Given the description of an element on the screen output the (x, y) to click on. 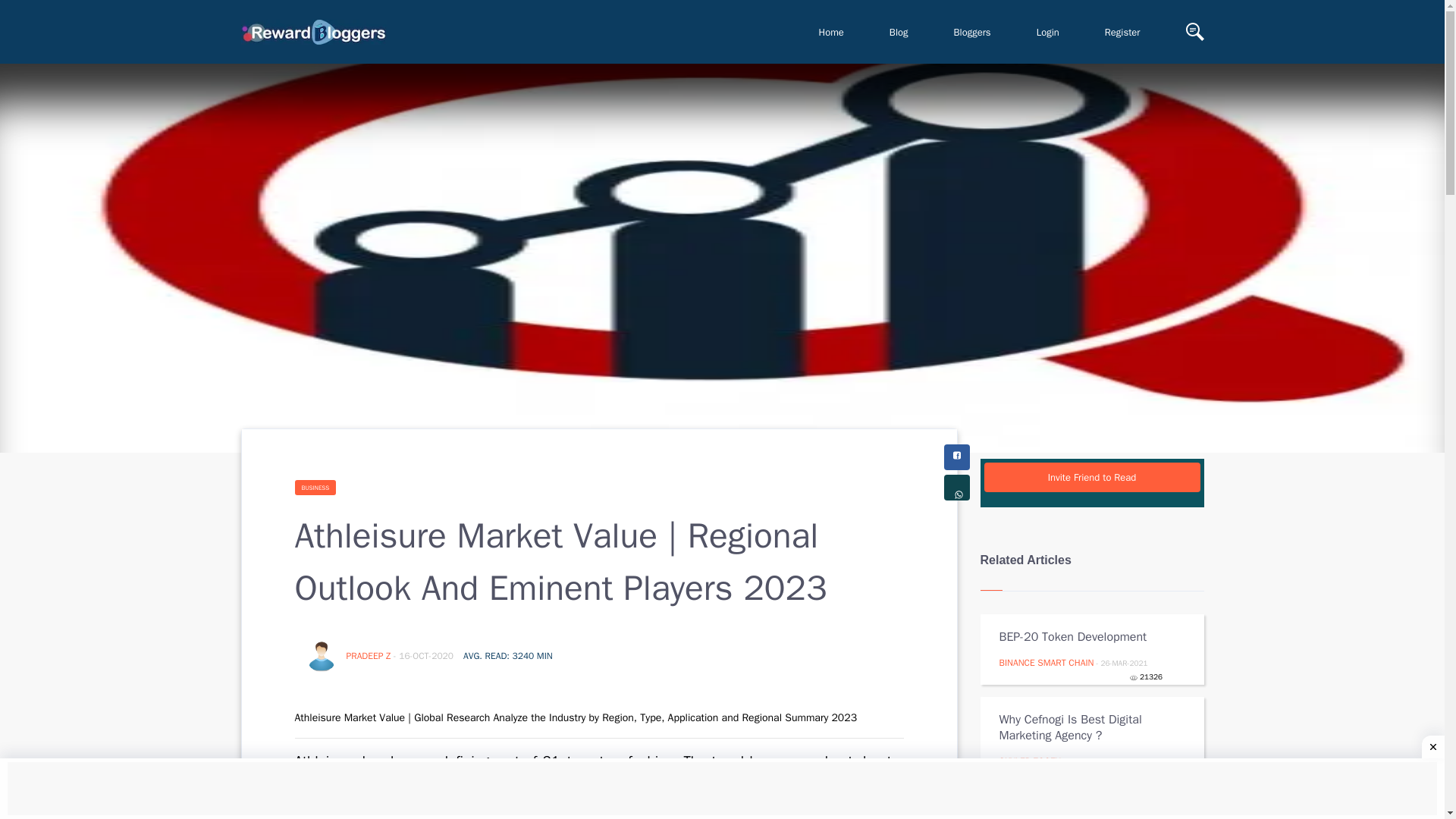
BEP-20 Token Development (1080, 637)
BUSINESS (315, 487)
Invite Friend to Read (1091, 477)
BINANCE SMART CHAIN (1046, 662)
Bloggers (972, 31)
Register (1122, 31)
PRADEEP Z (369, 655)
Blog (898, 31)
Why Cefnogi Is Best Digital Marketing Agency ? (1080, 727)
